Given the description of an element on the screen output the (x, y) to click on. 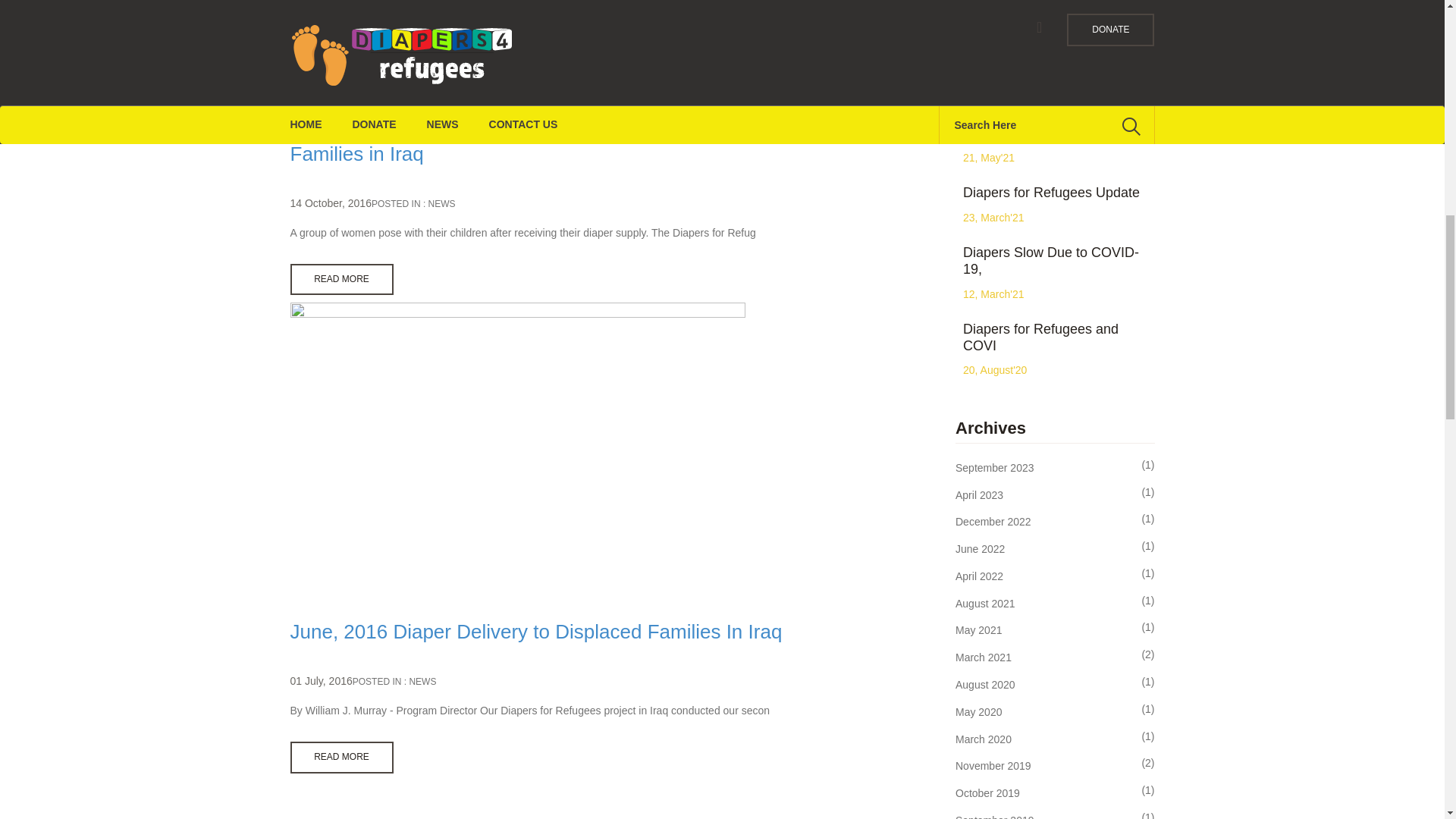
READ MORE (341, 278)
June, 2016 Diaper Delivery to Displaced Families In Iraq (535, 630)
READ MORE (341, 757)
NEWS (441, 204)
NEWS (422, 681)
